Given the description of an element on the screen output the (x, y) to click on. 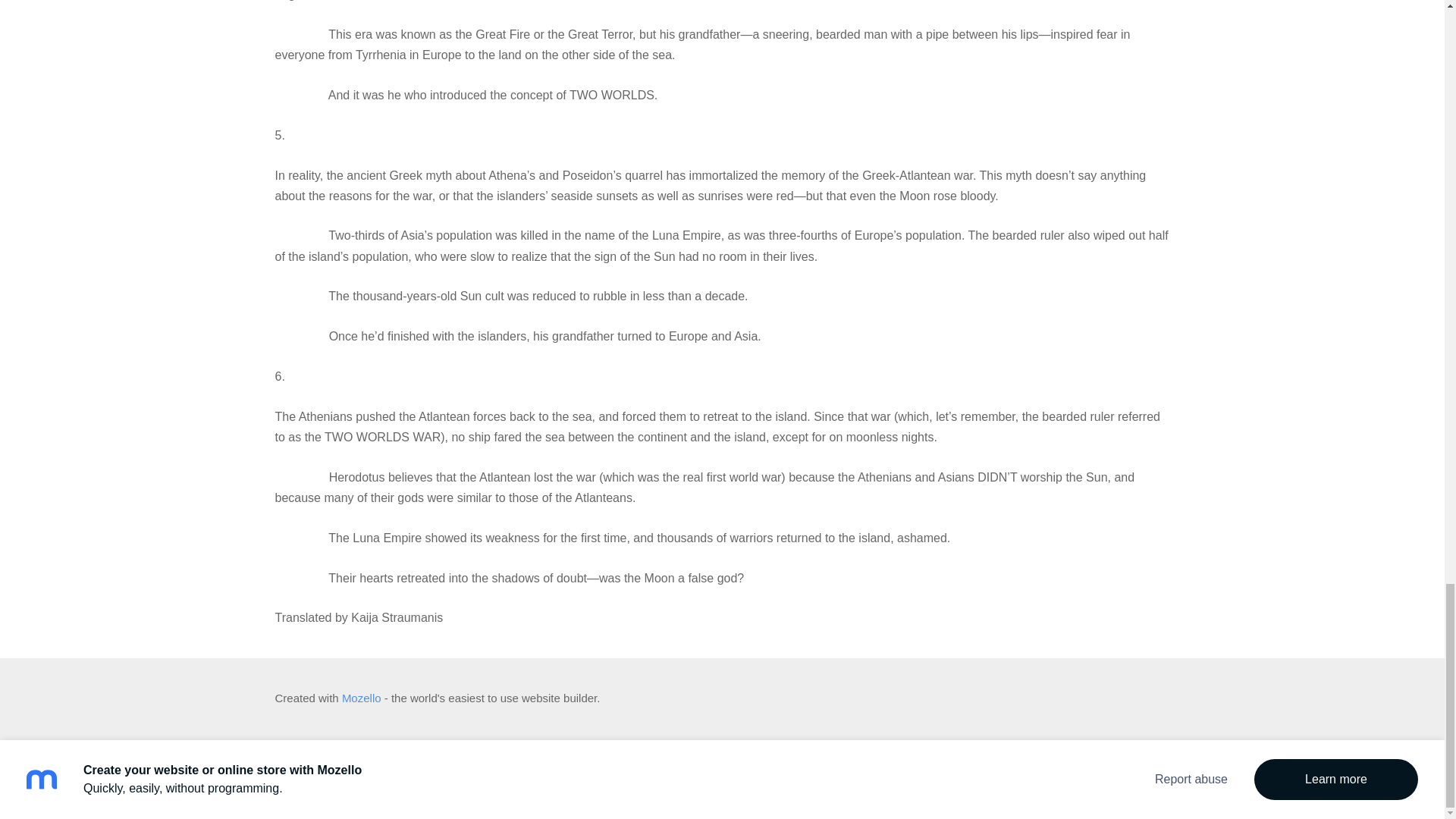
Mozello (361, 697)
